Given the description of an element on the screen output the (x, y) to click on. 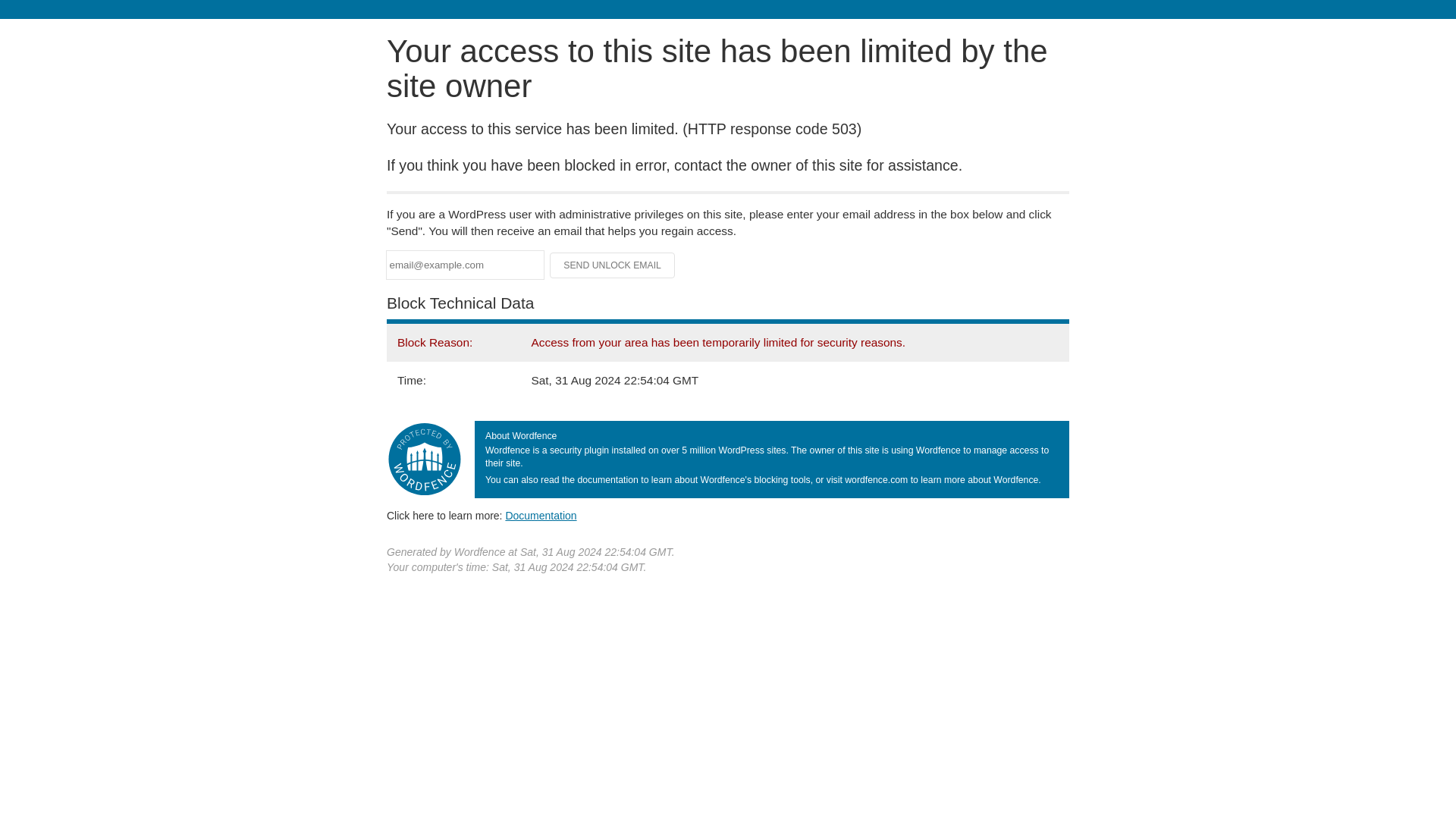
Send Unlock Email (612, 265)
Documentation (540, 515)
Send Unlock Email (612, 265)
